Given the description of an element on the screen output the (x, y) to click on. 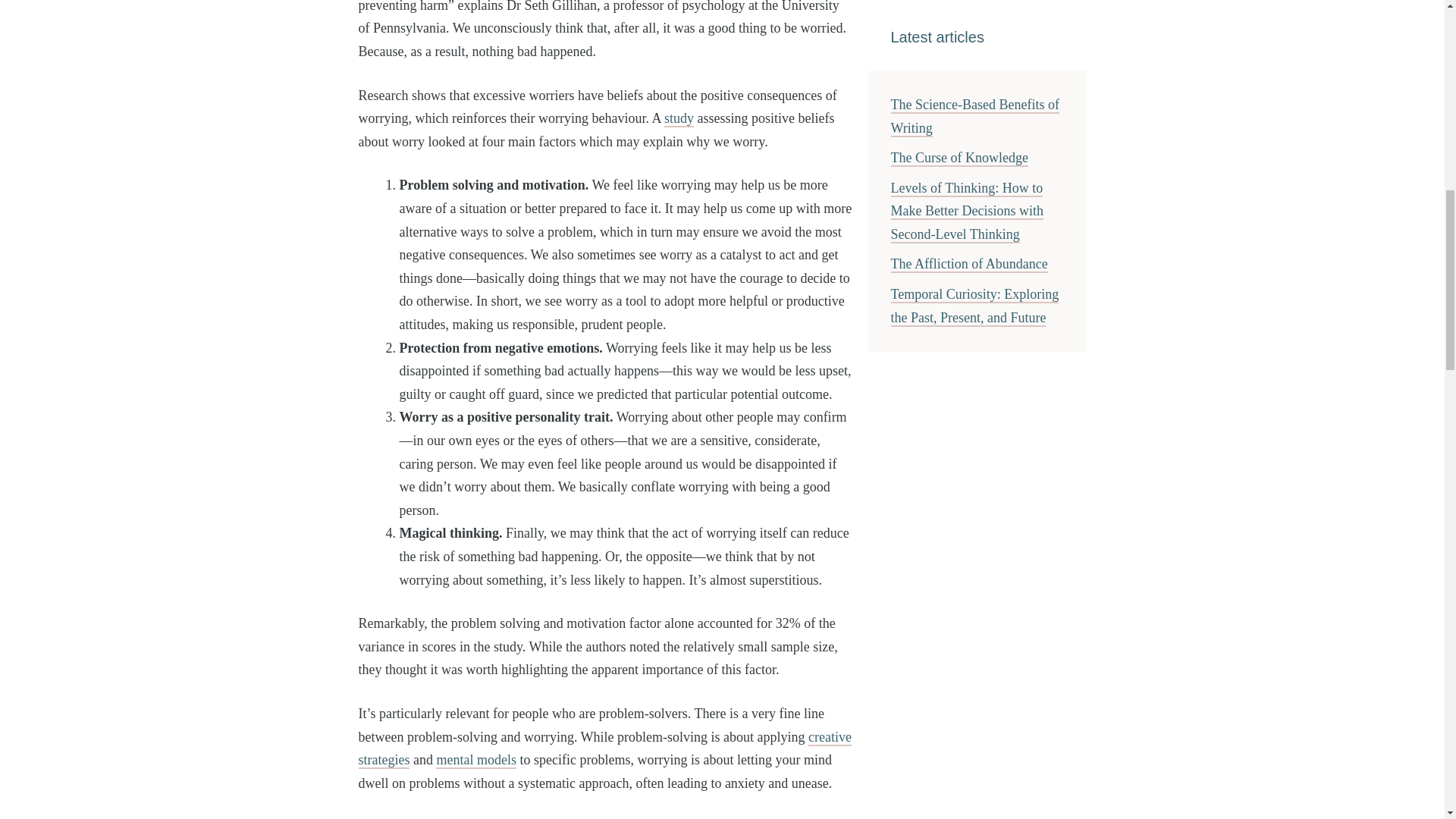
study (678, 118)
The Affliction of Abundance (967, 264)
The Curse of Knowledge (958, 158)
The Science-Based Benefits of Writing (973, 117)
creative strategies (604, 749)
Scroll back to top (1406, 719)
Temporal Curiosity: Exploring the Past, Present, and Future (973, 306)
mental models (475, 760)
